Given the description of an element on the screen output the (x, y) to click on. 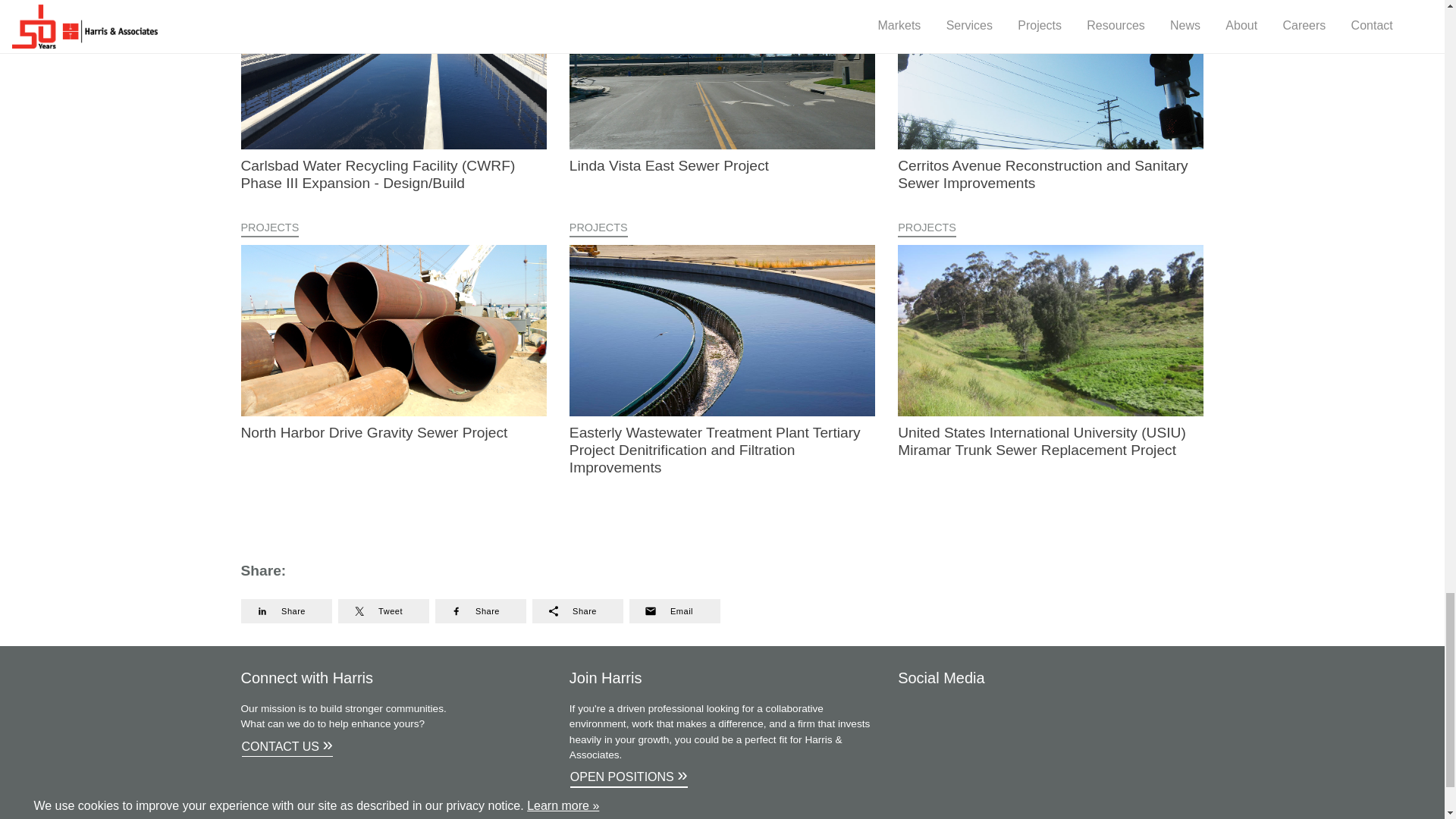
Contact (291, 747)
